Given the description of an element on the screen output the (x, y) to click on. 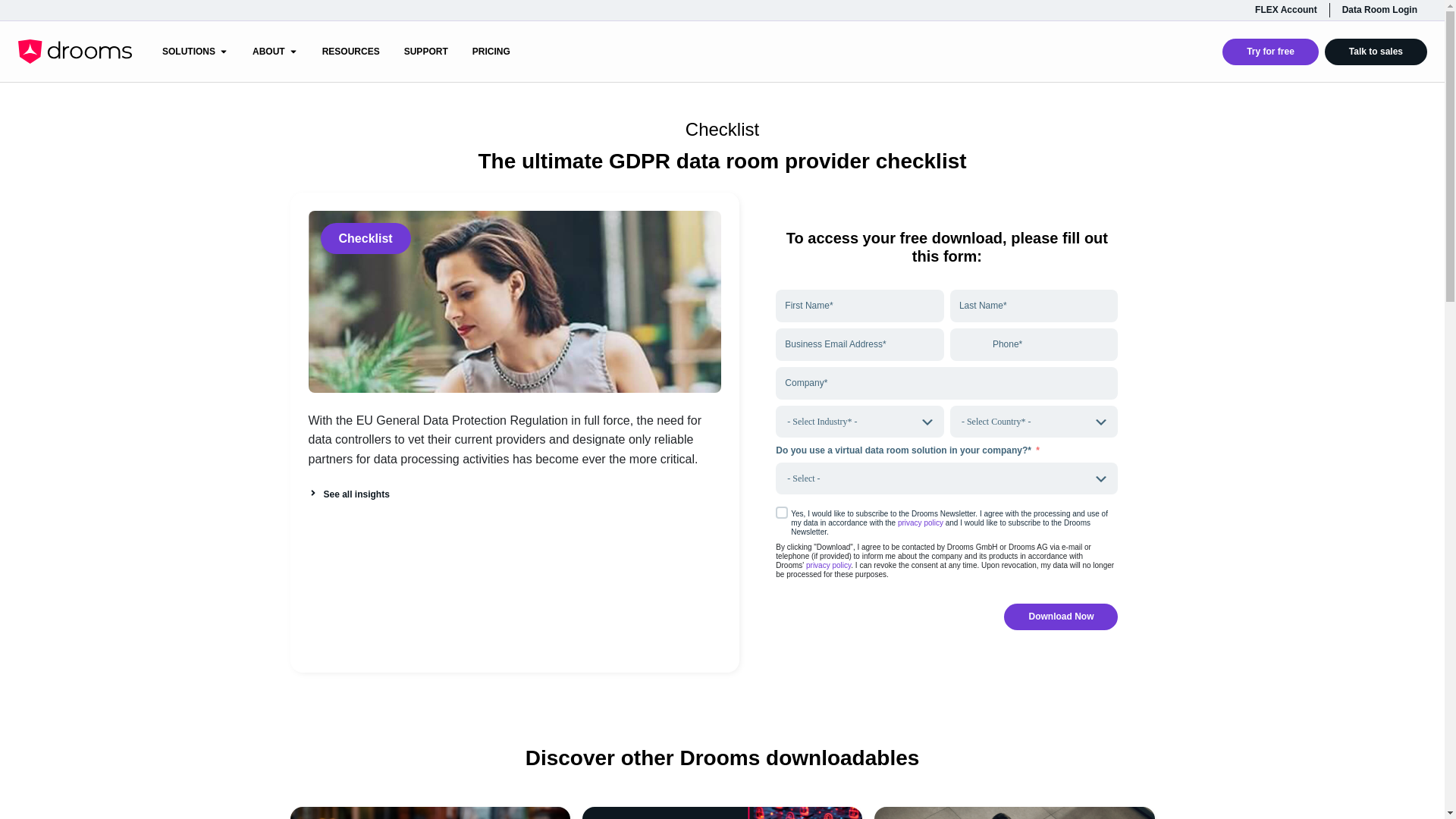
RESOURCES (350, 51)
privacy policy (921, 522)
Try for free (1271, 51)
ABOUT (268, 51)
on (781, 512)
Data Room Login (1379, 10)
SUPPORT (426, 51)
See all insights (347, 494)
Talk to sales (1375, 51)
Checklist (364, 237)
